Given the description of an element on the screen output the (x, y) to click on. 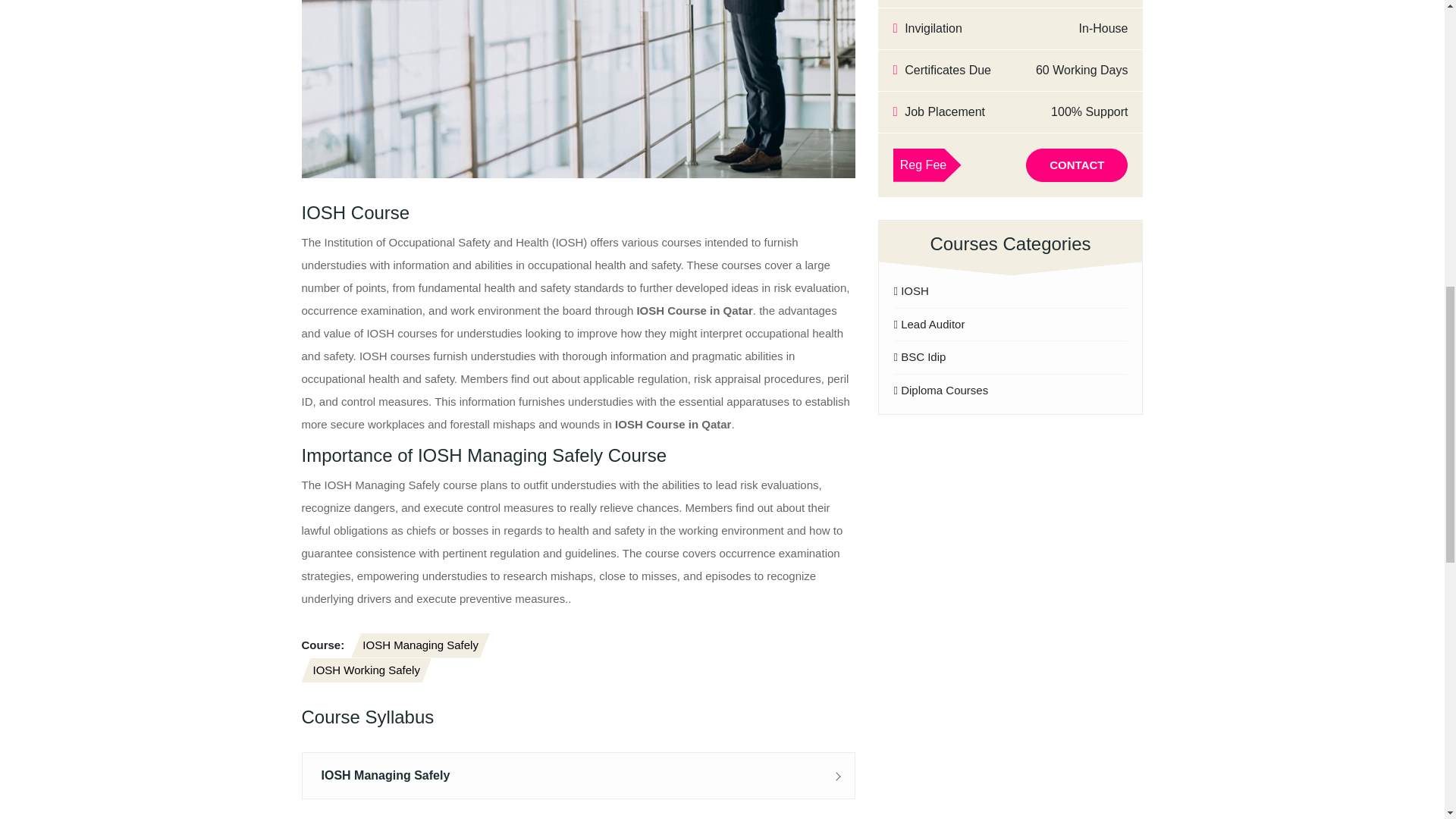
IOSH Managing Safely (419, 645)
BSC Idip (1009, 357)
Diploma Courses (1009, 386)
IOSH Working Safely (365, 670)
Lead Auditor (1009, 324)
CONTACT (1076, 165)
IOSH (1009, 294)
